Given the description of an element on the screen output the (x, y) to click on. 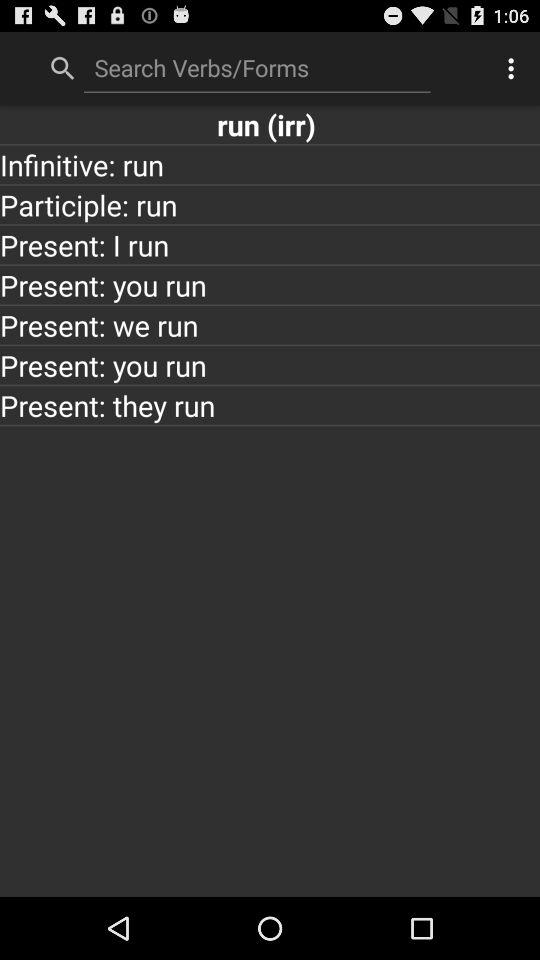
tap app below infinitive: run item (270, 204)
